Given the description of an element on the screen output the (x, y) to click on. 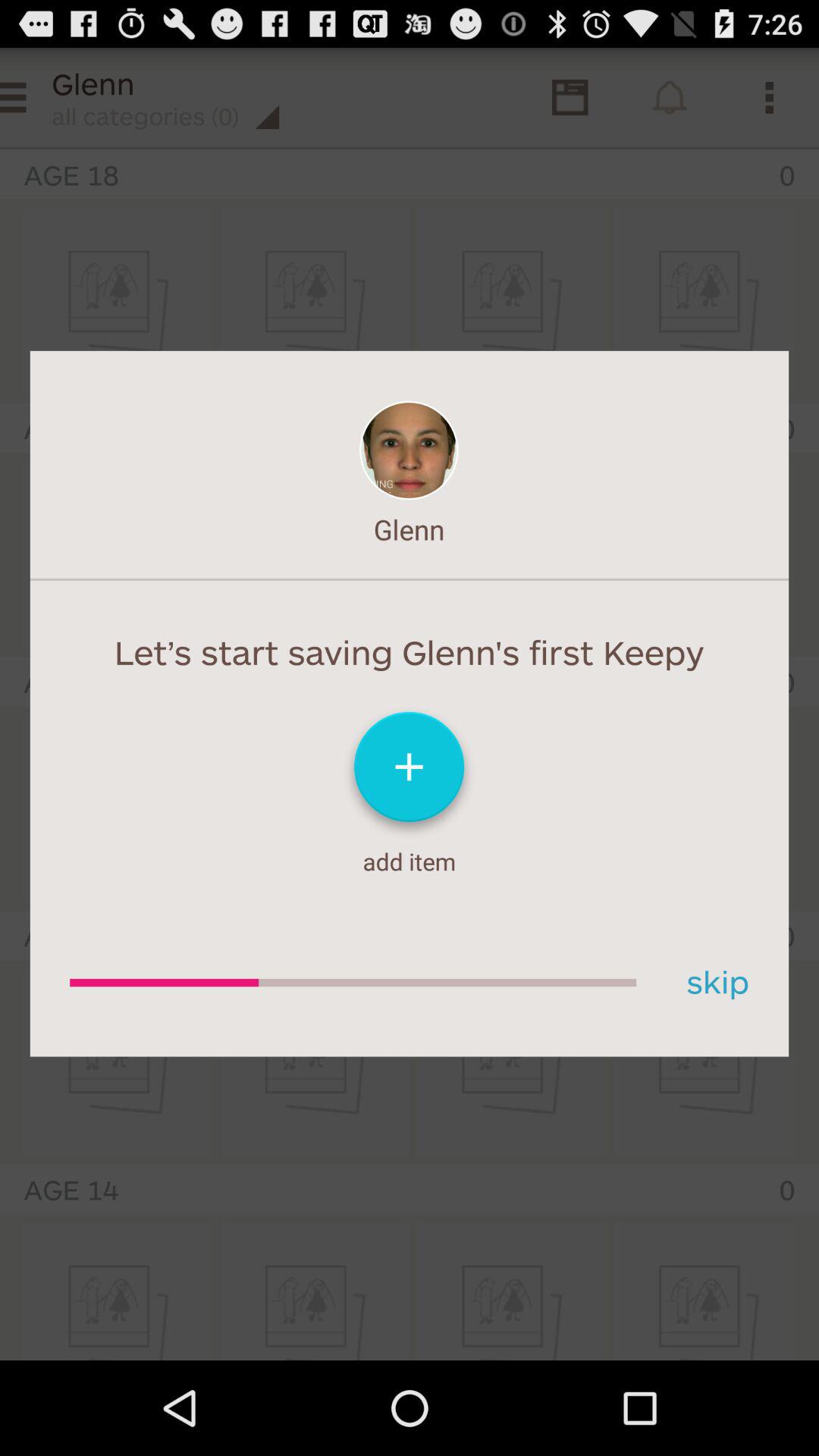
add an item (409, 773)
